Given the description of an element on the screen output the (x, y) to click on. 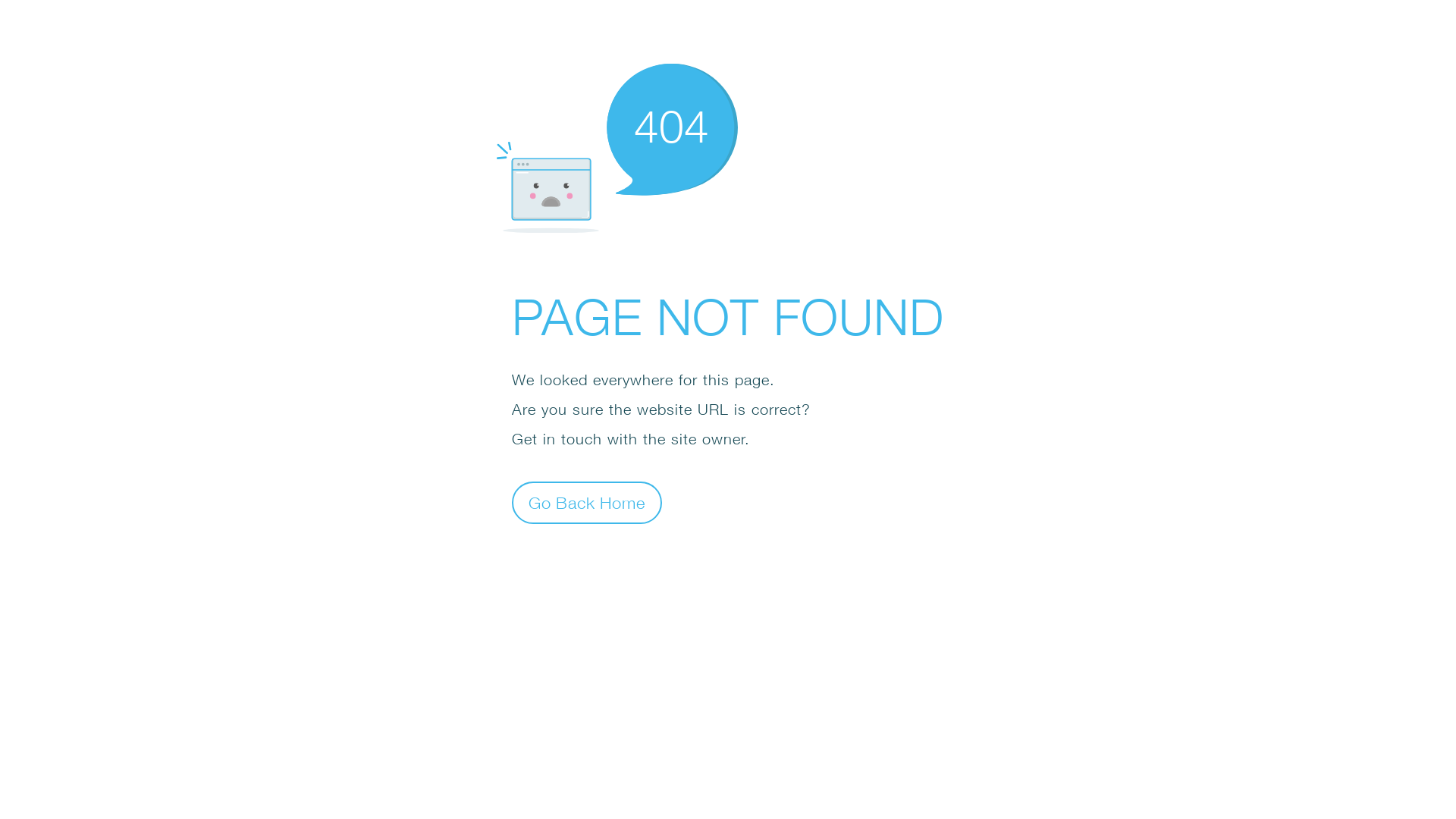
Go Back Home Element type: text (586, 502)
